Given the description of an element on the screen output the (x, y) to click on. 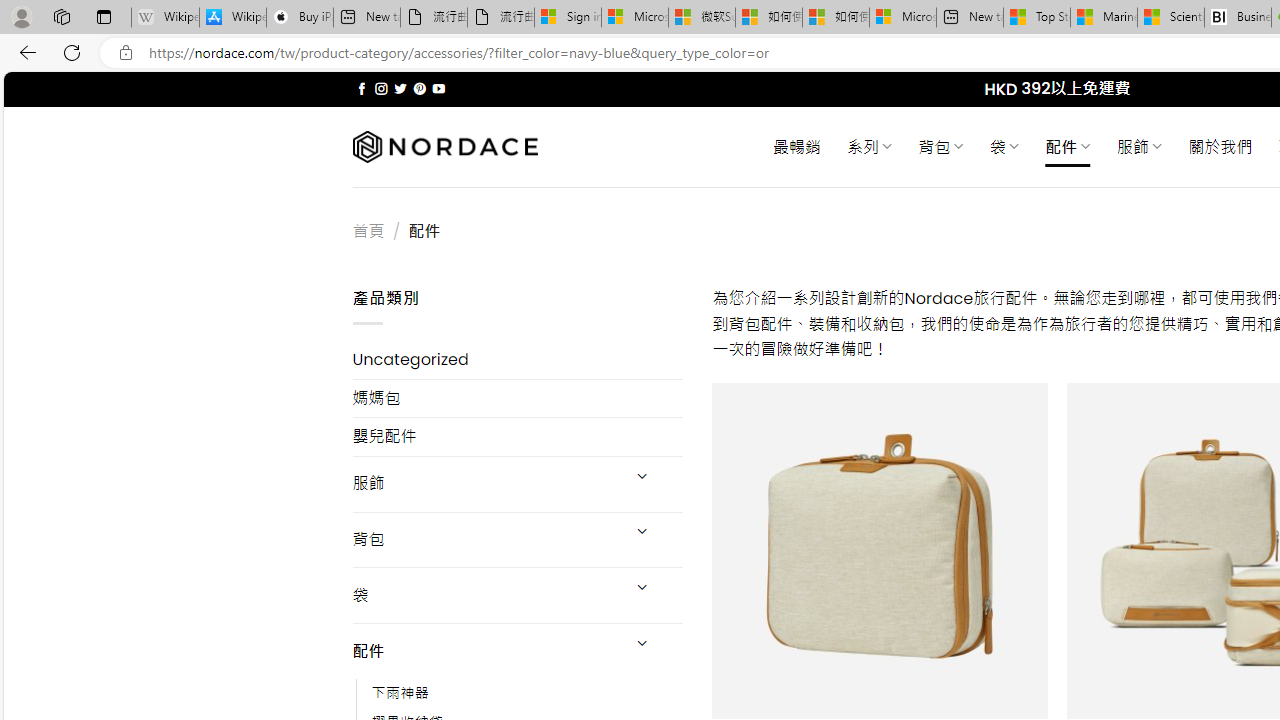
Follow on Facebook (361, 88)
